Given the description of an element on the screen output the (x, y) to click on. 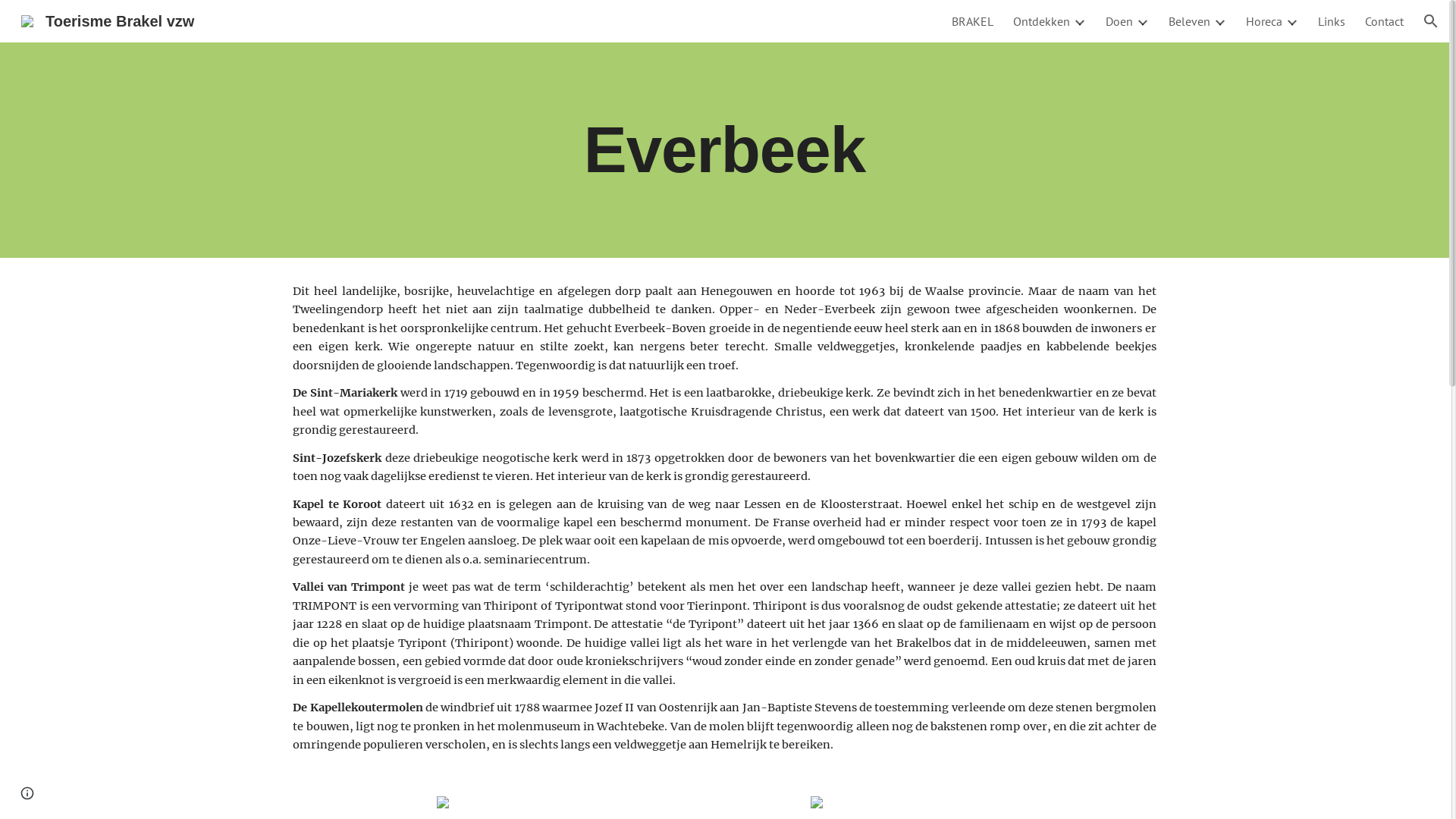
Expand/Collapse Element type: hover (1141, 20)
Horeca Element type: text (1263, 20)
Expand/Collapse Element type: hover (1219, 20)
Beleven Element type: text (1189, 20)
BRAKEL Element type: text (972, 20)
Expand/Collapse Element type: hover (1078, 20)
Expand/Collapse Element type: hover (1291, 20)
Ontdekken Element type: text (1041, 20)
Links Element type: text (1331, 20)
Toerisme Brakel vzw Element type: text (107, 19)
Doen Element type: text (1118, 20)
Contact Element type: text (1384, 20)
